Given the description of an element on the screen output the (x, y) to click on. 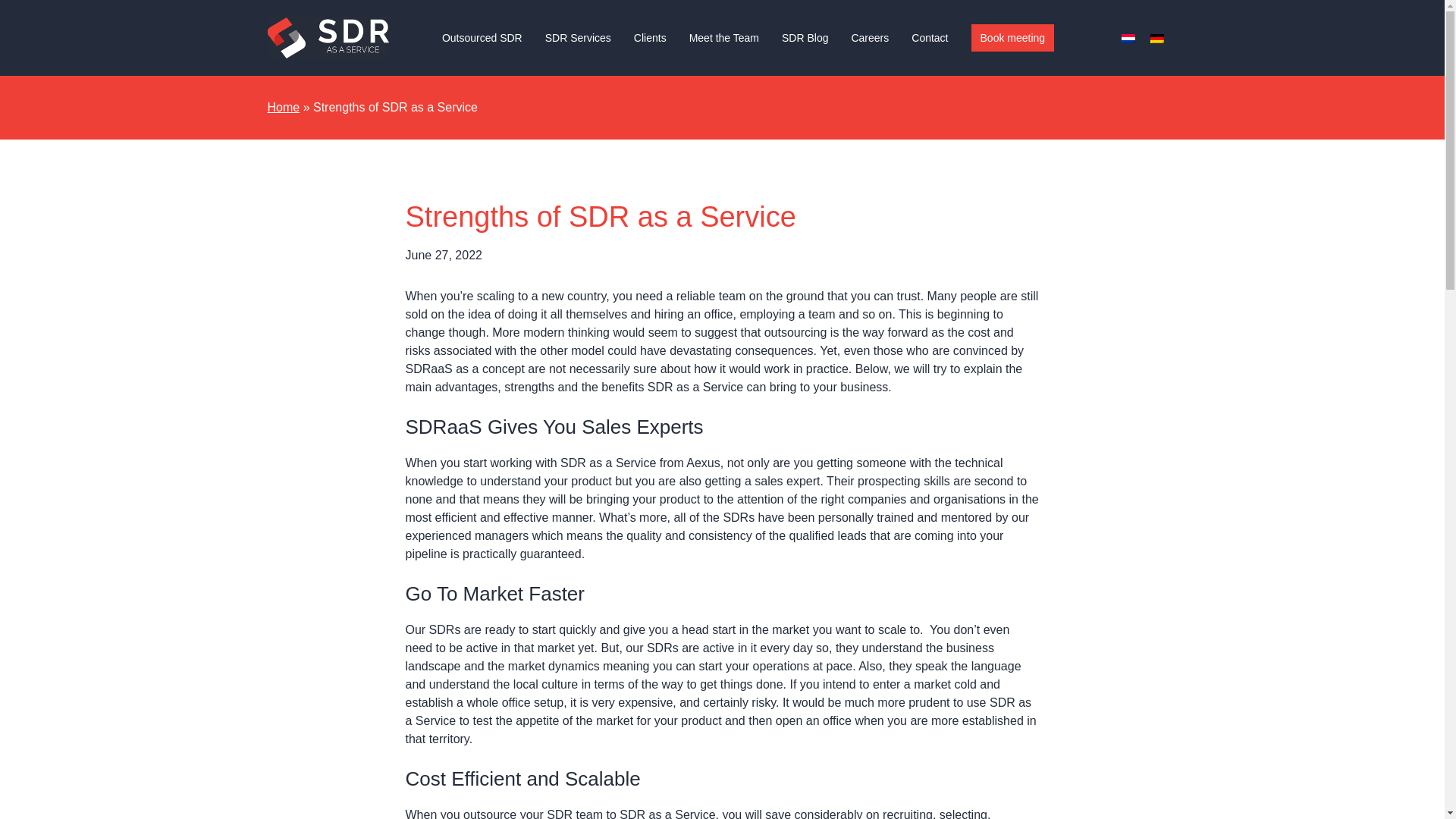
Home (282, 107)
SDR Services (577, 37)
Contact (929, 37)
Careers (869, 37)
Clients (649, 37)
Meet the Team (723, 37)
SDR Blog (804, 37)
Outsourced SDR (482, 37)
Book meeting (1012, 37)
